Given the description of an element on the screen output the (x, y) to click on. 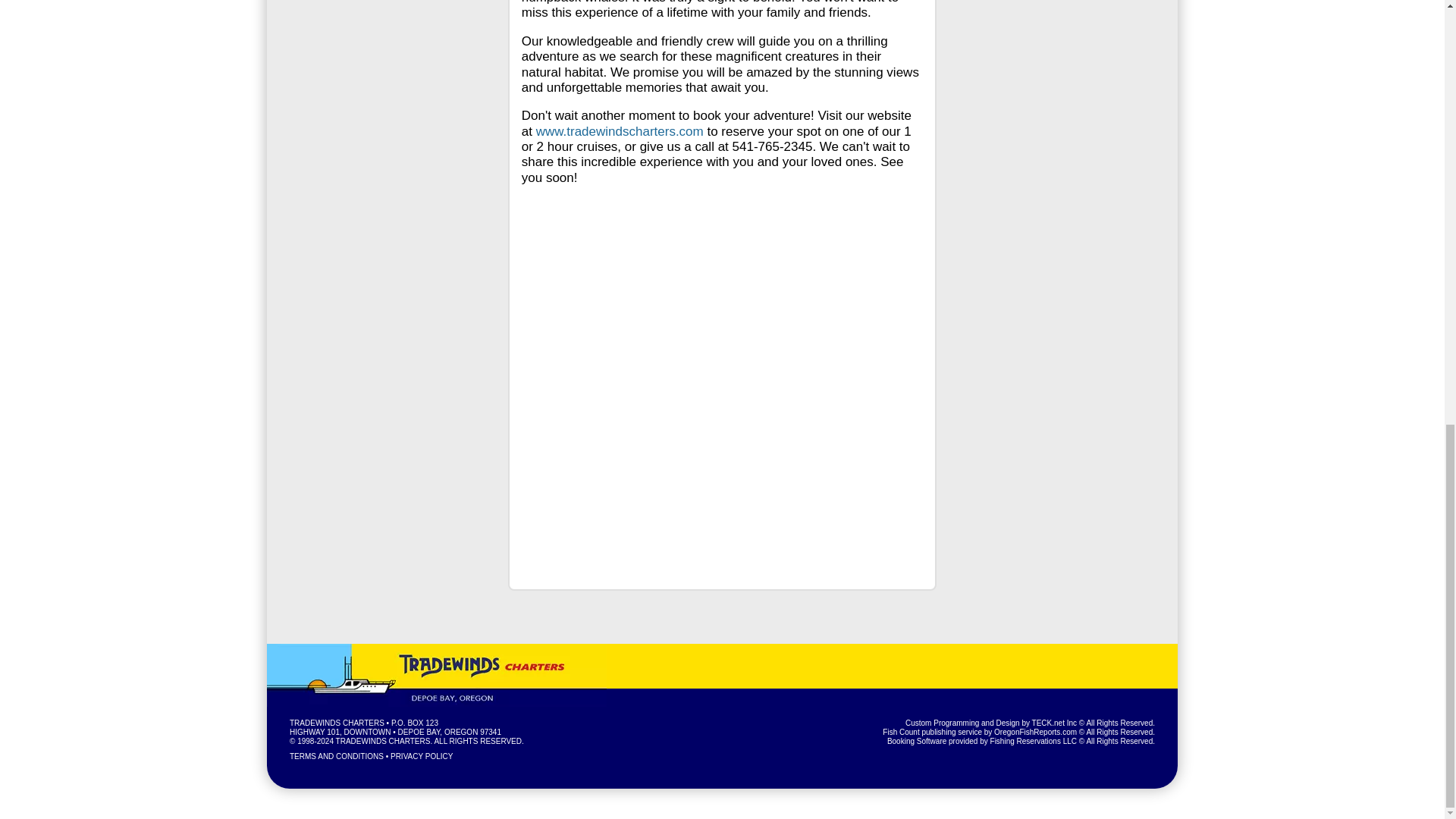
Fishing Reservations LLC (1033, 741)
TECK.net Inc (1054, 723)
PRIVACY POLICY (421, 756)
OregonFishReports.com (1035, 732)
TRADEWINDS CHARTERS (383, 741)
TERMS AND CONDITIONS (336, 756)
TRADEWINDS CHARTERS (336, 723)
www.tradewindscharters.com (619, 131)
